Given the description of an element on the screen output the (x, y) to click on. 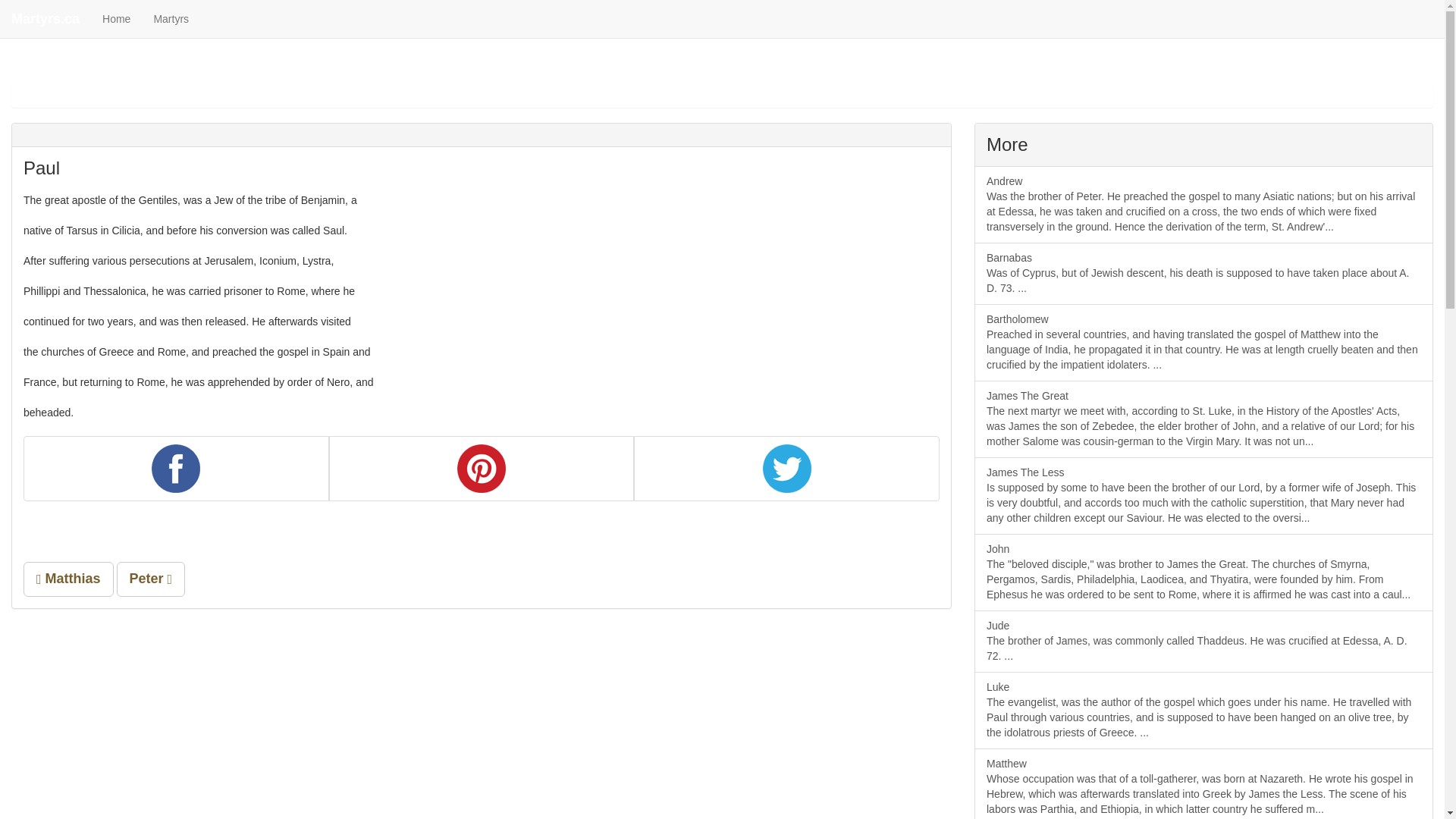
Home (115, 18)
Matthias (68, 579)
Martyrs.ca (45, 18)
Peter (151, 579)
Martyrs (170, 18)
